Given the description of an element on the screen output the (x, y) to click on. 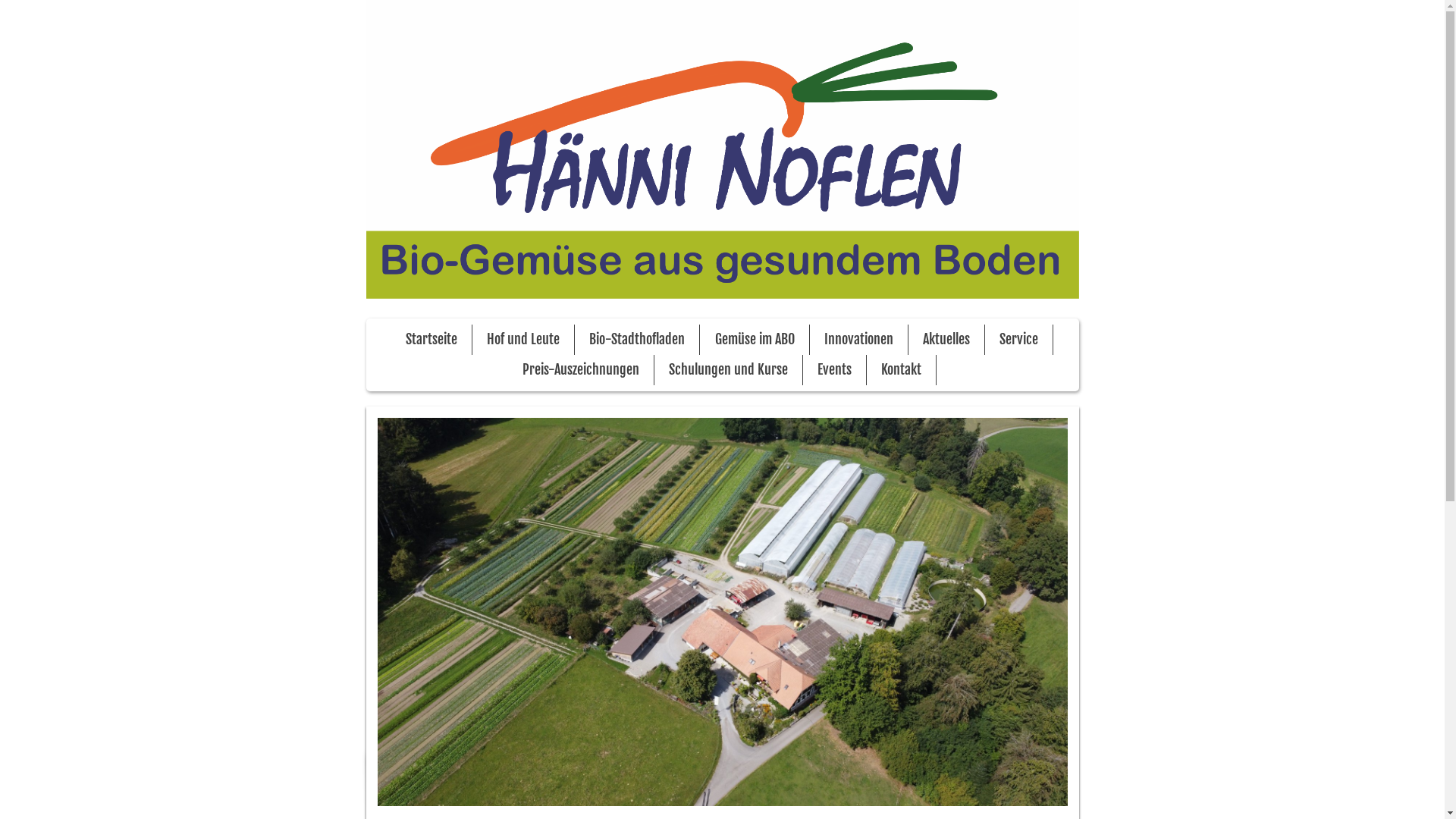
Schulungen und Kurse Element type: text (728, 369)
Service Element type: text (1018, 339)
Aktuelles Element type: text (946, 339)
Innovationen Element type: text (858, 339)
Bio-Stadthofladen Element type: text (636, 339)
Startseite Element type: text (431, 339)
Preis-Auszeichnungen Element type: text (580, 369)
Events Element type: text (834, 369)
Hof und Leute Element type: text (523, 339)
Kontakt Element type: text (900, 369)
